Given the description of an element on the screen output the (x, y) to click on. 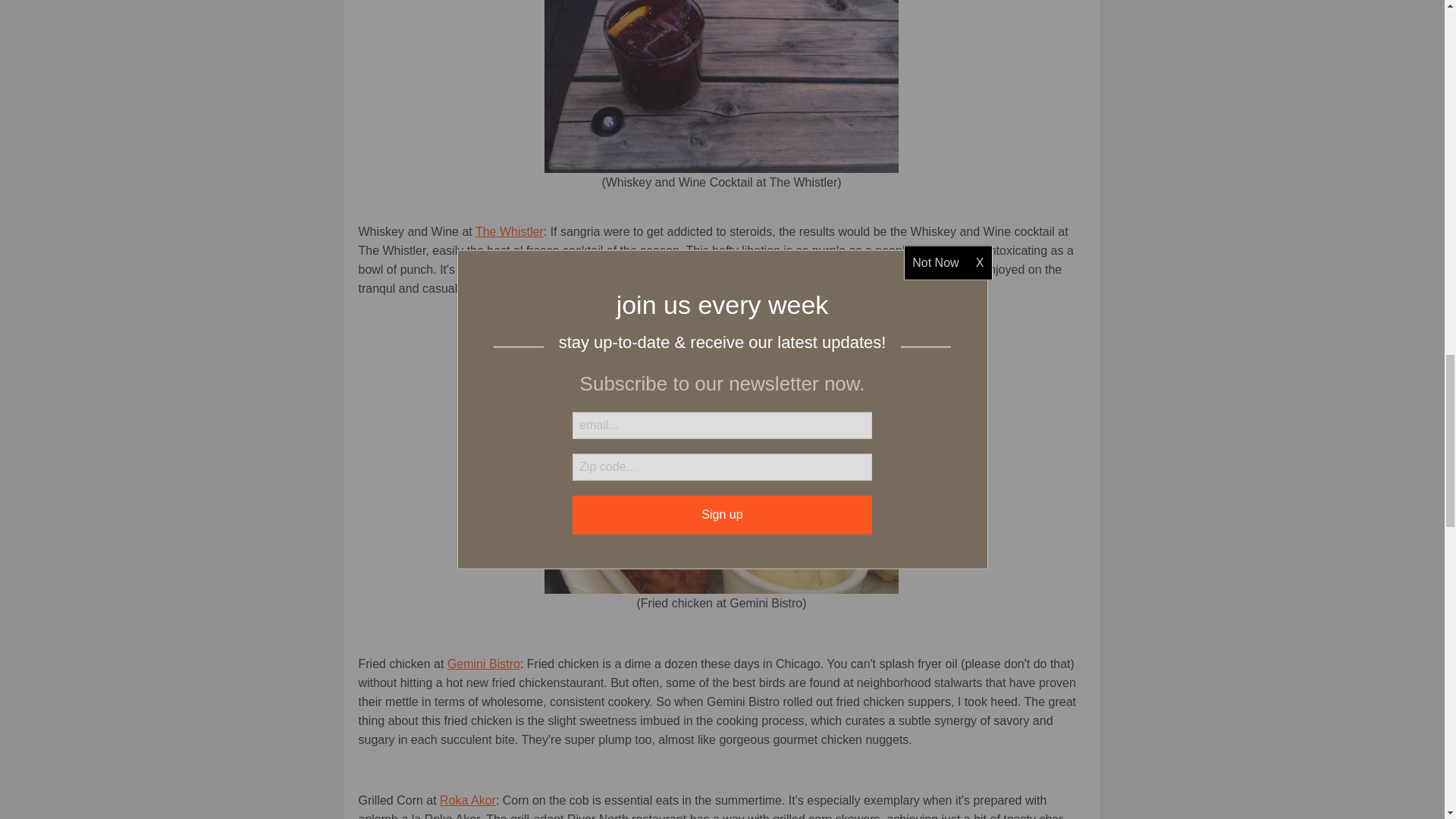
Gemini Bistro (721, 460)
The Whistler (721, 86)
Gemini Bistro (482, 663)
Roka Akor (467, 799)
The Whistler (509, 231)
